Given the description of an element on the screen output the (x, y) to click on. 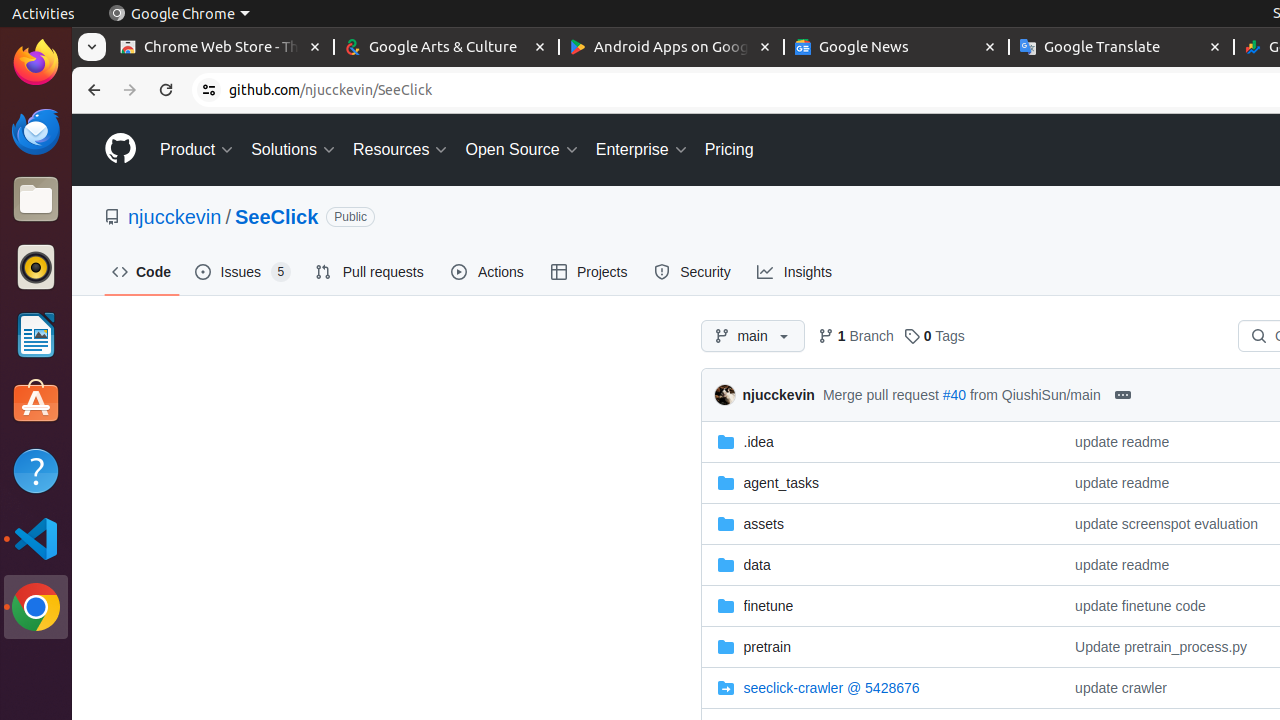
Actions Element type: link (489, 272)
finetune, (Directory) Element type: link (768, 605)
Update pretrain_process.py Element type: link (1161, 646)
Google Chrome Element type: push-button (36, 607)
Files Element type: push-button (36, 199)
